Given the description of an element on the screen output the (x, y) to click on. 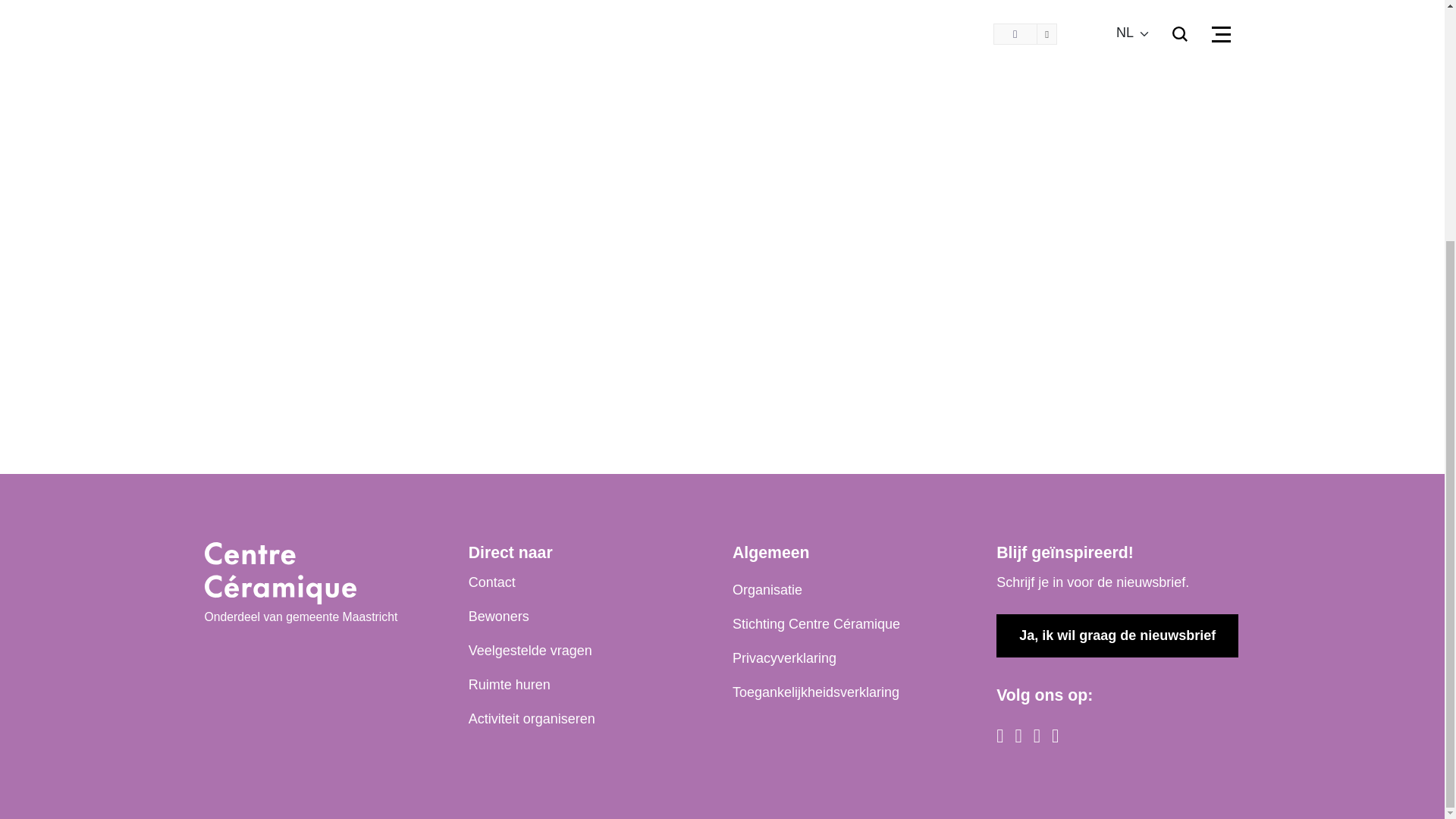
Bewoners (498, 616)
Activiteit organiseren (531, 719)
Ruimte huren (509, 684)
Toegankelijkheidsverklaring (815, 692)
Ja, ik wil graag de nieuwsbrief (1117, 635)
Organisatie (767, 589)
Veelgestelde vragen (530, 650)
Contact (491, 582)
Privacyverklaring (783, 658)
